Given the description of an element on the screen output the (x, y) to click on. 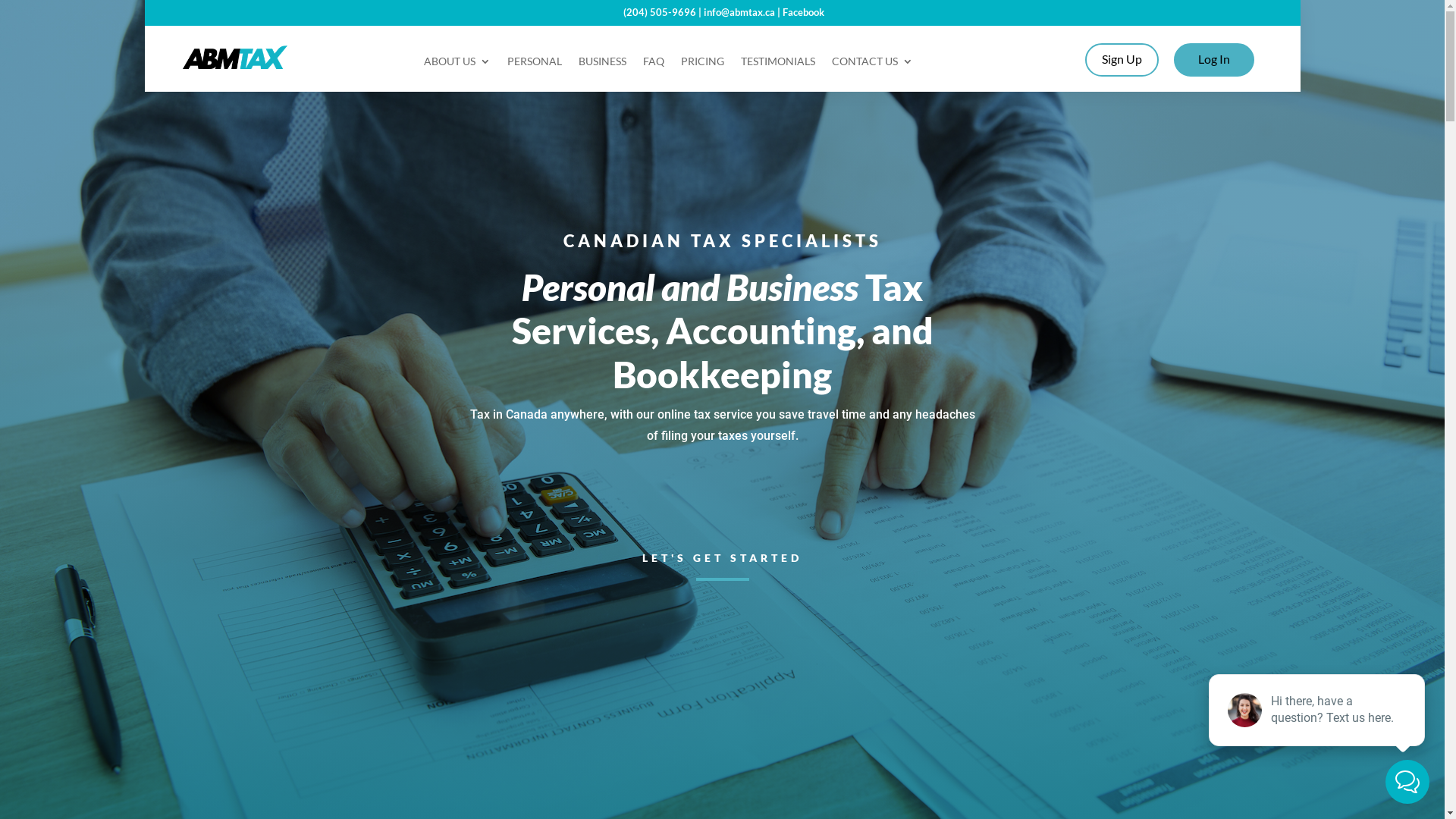
Log In Element type: text (1213, 59)
Sign Up Element type: text (1121, 59)
Facebook Element type: text (803, 12)
FAQ Element type: text (653, 64)
CONTACT US Element type: text (872, 64)
BUSINESS Element type: text (602, 64)
LET'S GET STARTED Element type: text (722, 558)
PERSONAL Element type: text (534, 64)
(204) 505-9696 Element type: text (659, 12)
PRICING Element type: text (702, 64)
info@abmtax.ca Element type: text (739, 12)
TESTIMONIALS Element type: text (777, 64)
ABOUT US Element type: text (456, 64)
abmfinallogo Element type: hover (234, 57)
